Given the description of an element on the screen output the (x, y) to click on. 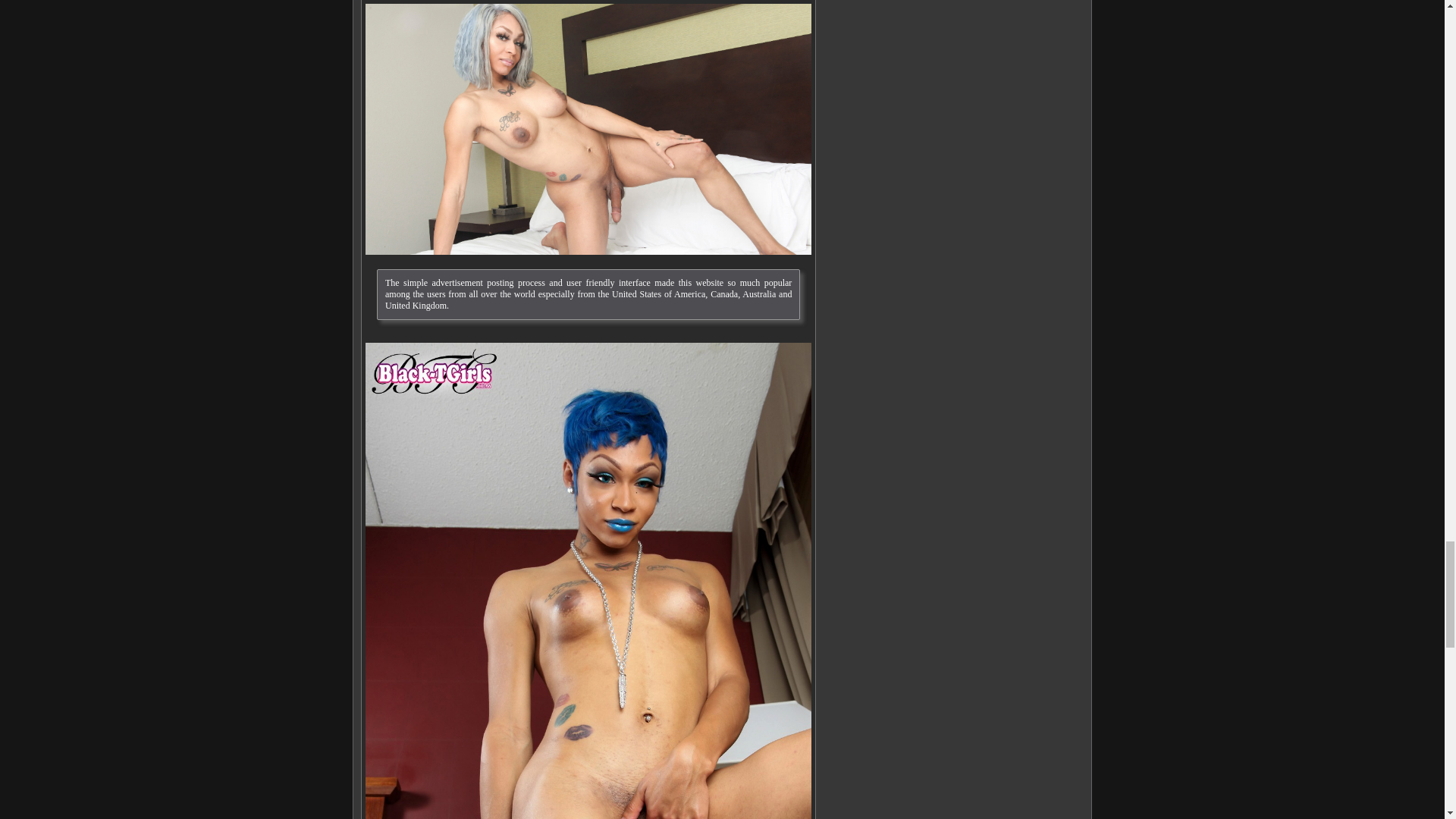
Kensington ts hailey Lansing, Michigan (587, 129)
